Given the description of an element on the screen output the (x, y) to click on. 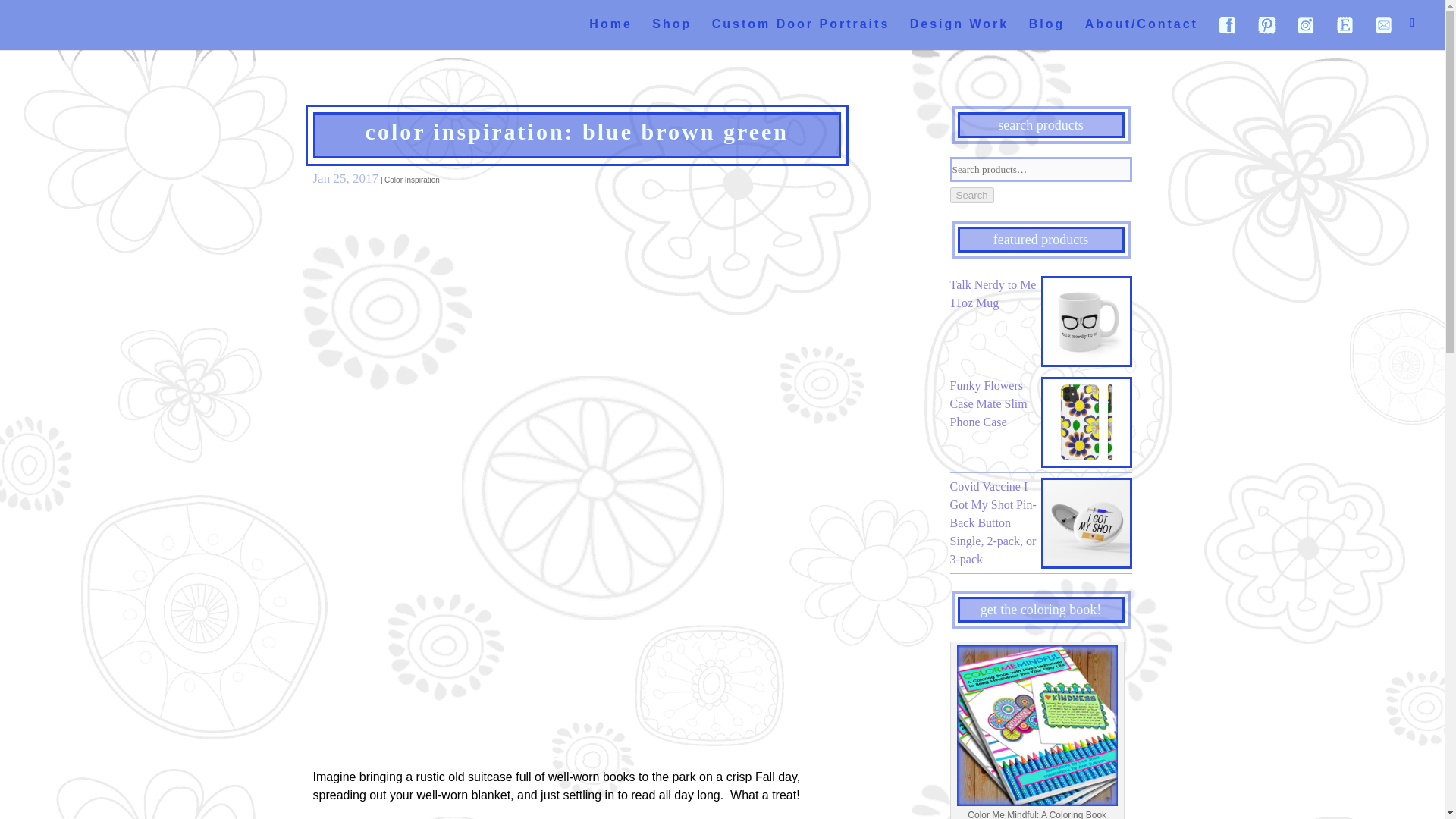
Funky Flowers Case Mate Slim Phone Case (1040, 403)
Shop (671, 31)
Home (610, 31)
Search (970, 195)
Blog (1047, 31)
Talk Nerdy to Me 11oz Mug (1040, 294)
Color Inspiration (411, 180)
Custom Door Portraits (800, 31)
